Given the description of an element on the screen output the (x, y) to click on. 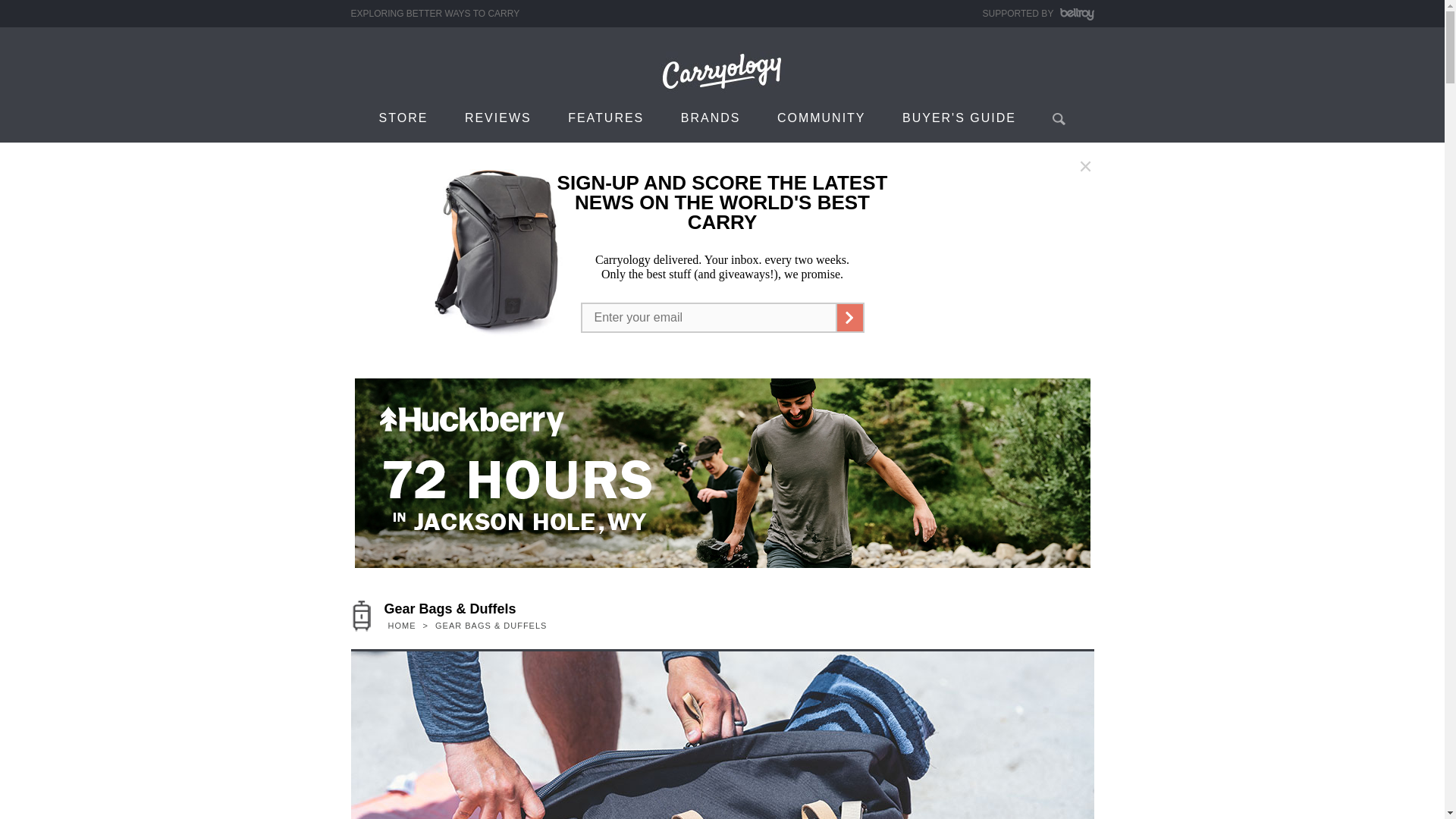
STORE (403, 117)
REVIEWS (498, 117)
FEATURES (605, 117)
Go to Carryology. (401, 624)
BUYER'S GUIDE (959, 117)
COMMUNITY (821, 117)
BRANDS (710, 117)
